Given the description of an element on the screen output the (x, y) to click on. 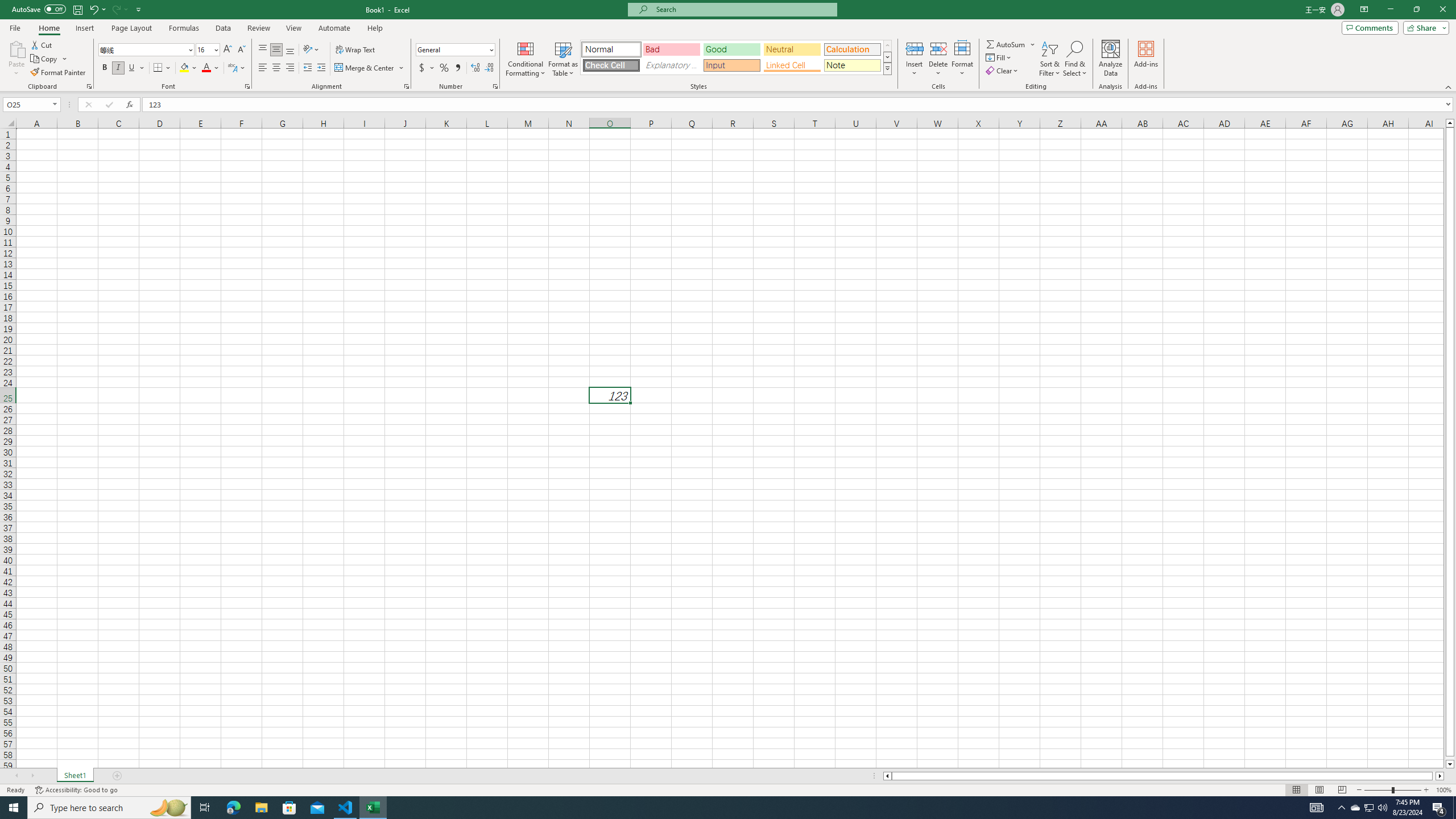
Format (962, 58)
Font Size (204, 49)
Good (731, 49)
Delete (938, 58)
Show Phonetic Field (231, 67)
Bold (104, 67)
